Given the description of an element on the screen output the (x, y) to click on. 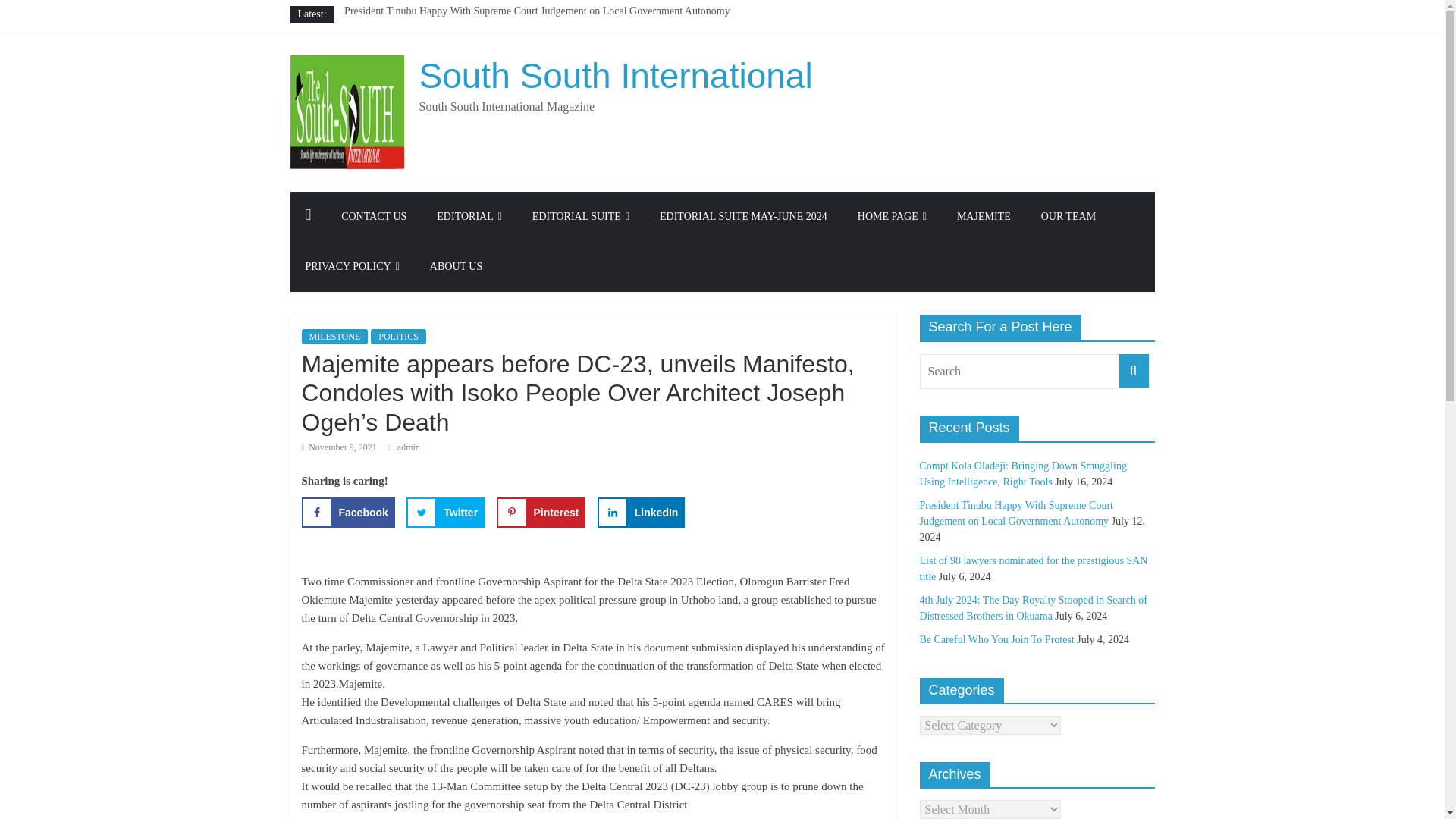
Save to Pinterest (540, 512)
MILESTONE (334, 336)
ABOUT US (455, 266)
Share on Facebook (347, 512)
Share on Twitter (445, 512)
South South International (615, 75)
EDITORIAL (469, 216)
EDITORIAL SUITE MAY-JUNE 2024 (744, 216)
PRIVACY POLICY (351, 266)
South South International (615, 75)
HOME PAGE (892, 216)
South South International (307, 216)
